Given the description of an element on the screen output the (x, y) to click on. 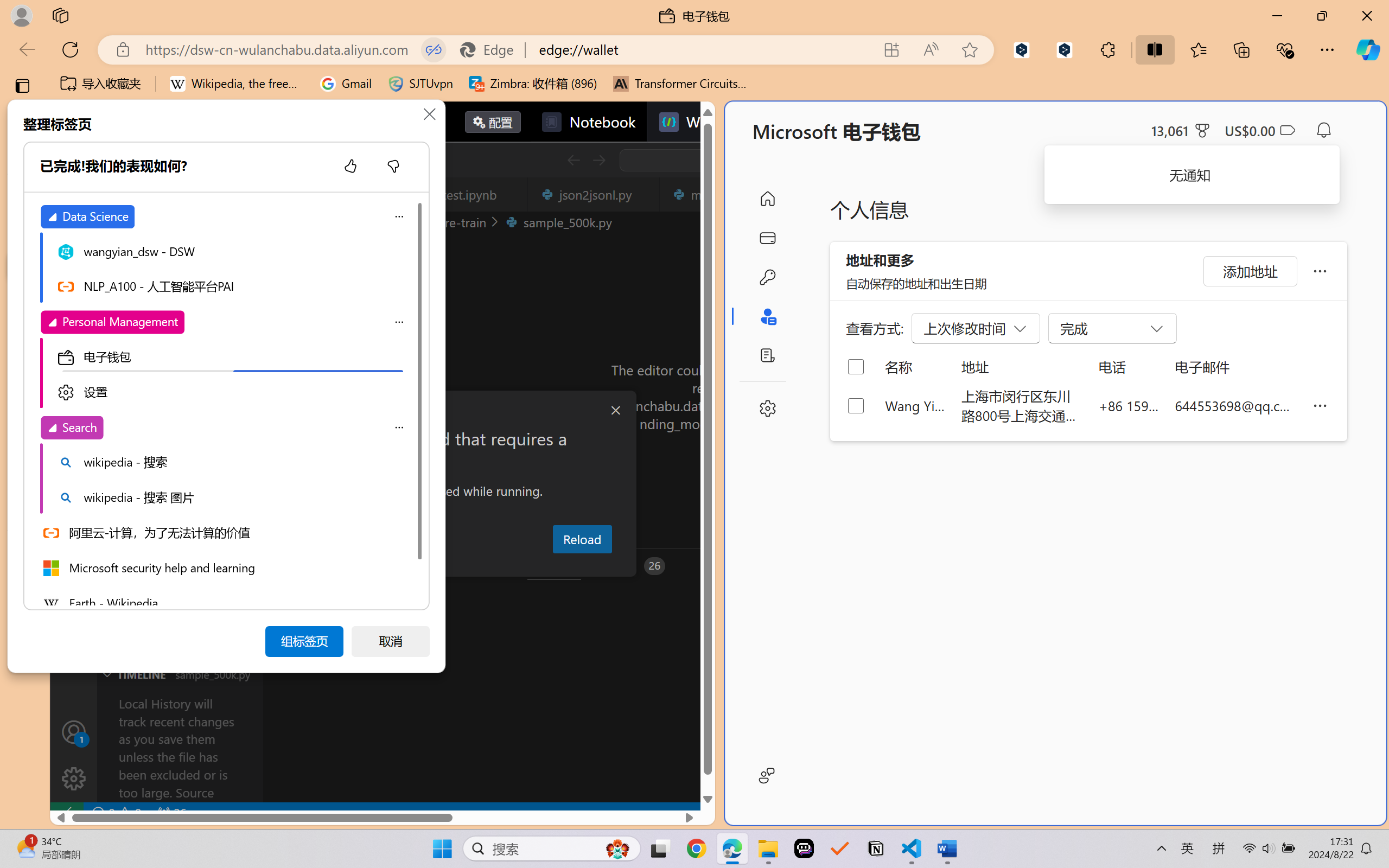
Microsoft Cashback - US$0.00 (1259, 129)
Google Chrome (696, 848)
Go Back (Alt+LeftArrow) (573, 159)
